Given the description of an element on the screen output the (x, y) to click on. 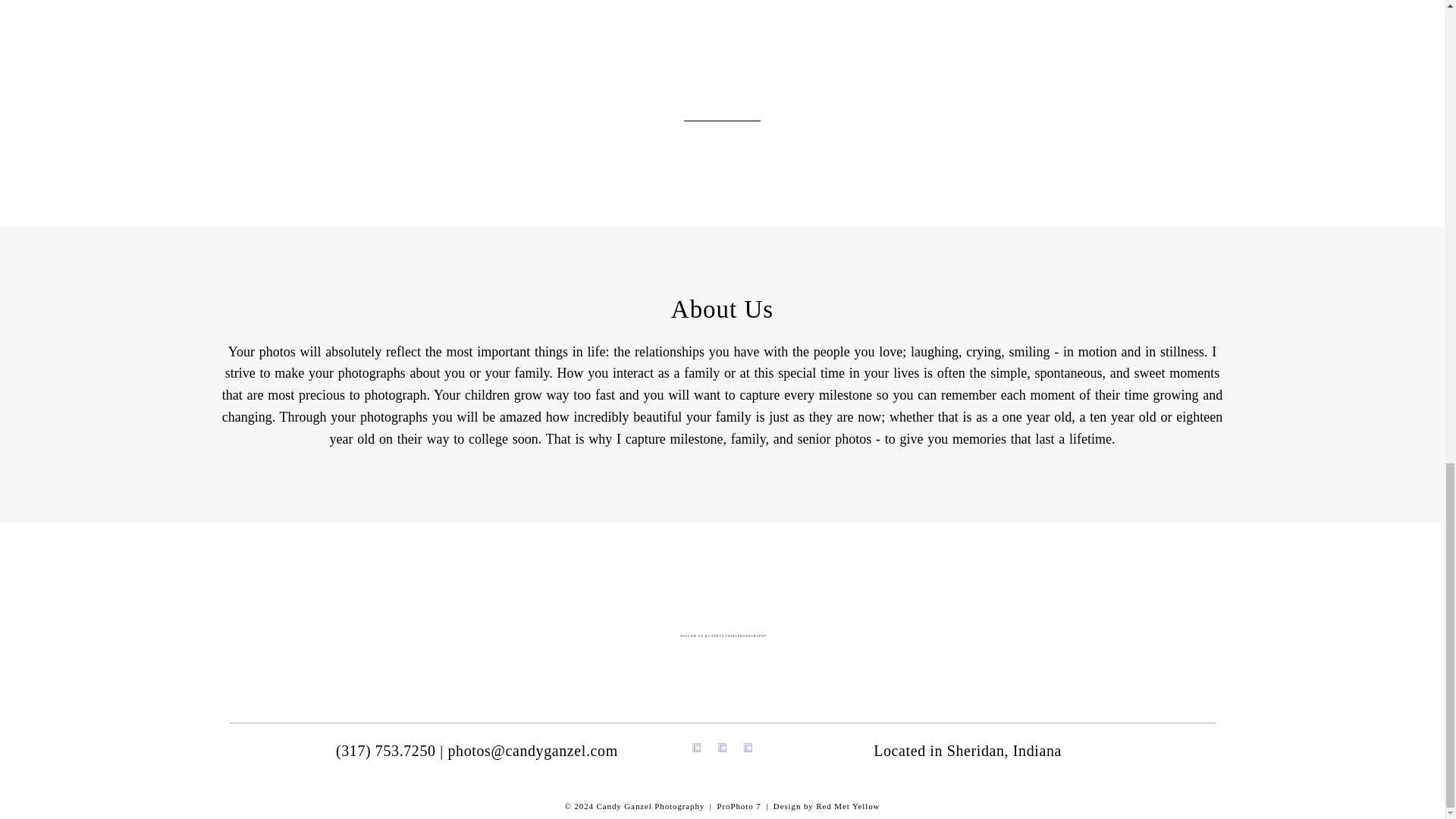
Red Met Yellow (847, 805)
ProPhoto 7 (739, 805)
ProPhoto7 WordPress Theme (739, 805)
